Given the description of an element on the screen output the (x, y) to click on. 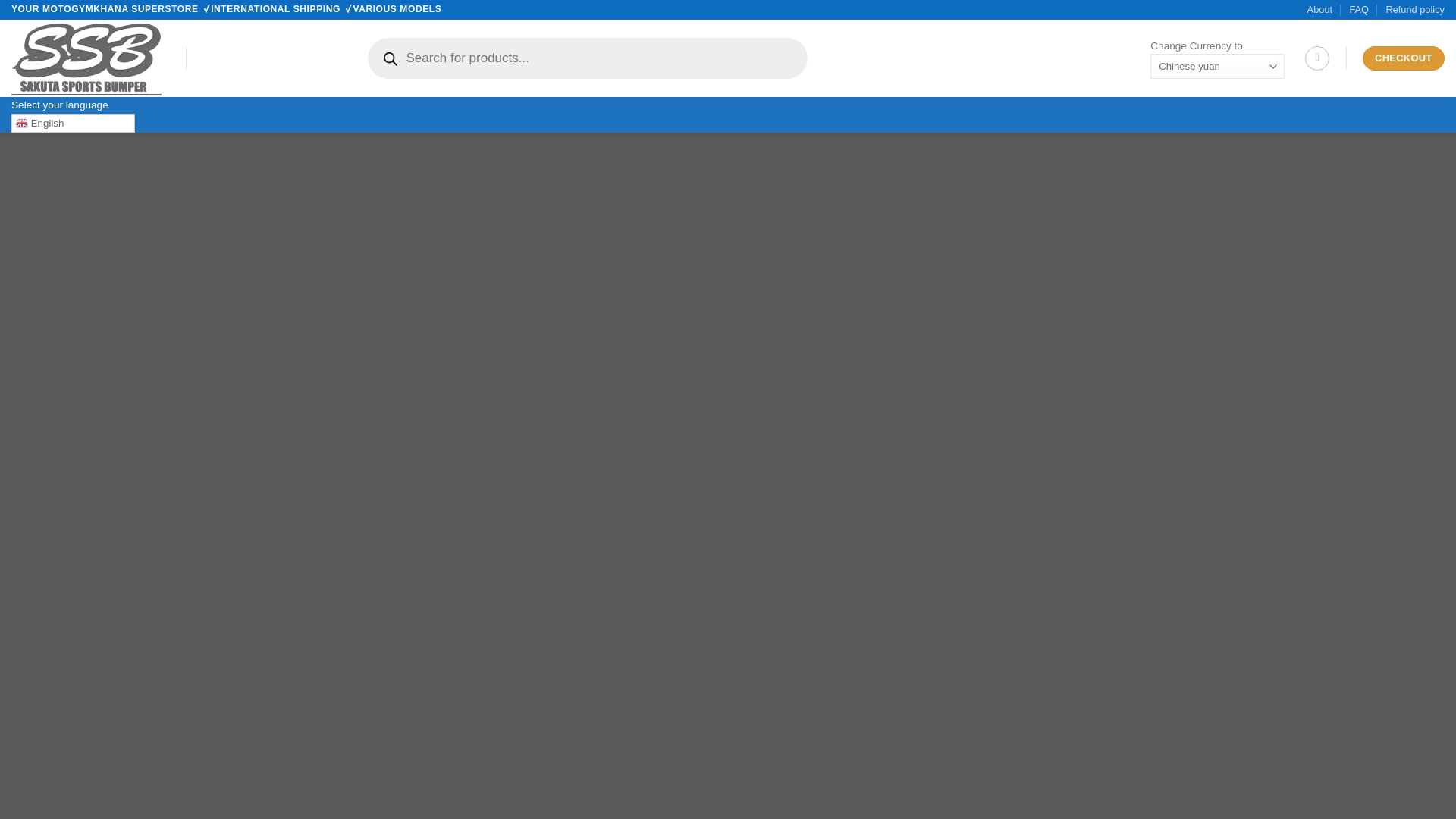
SSB Factory Japan - Sakuta Sports Bumper (87, 58)
CHECKOUT (1403, 58)
Refund policy (1415, 9)
English (73, 122)
FAQ (1358, 9)
About (1319, 9)
Cart (1316, 57)
